Given the description of an element on the screen output the (x, y) to click on. 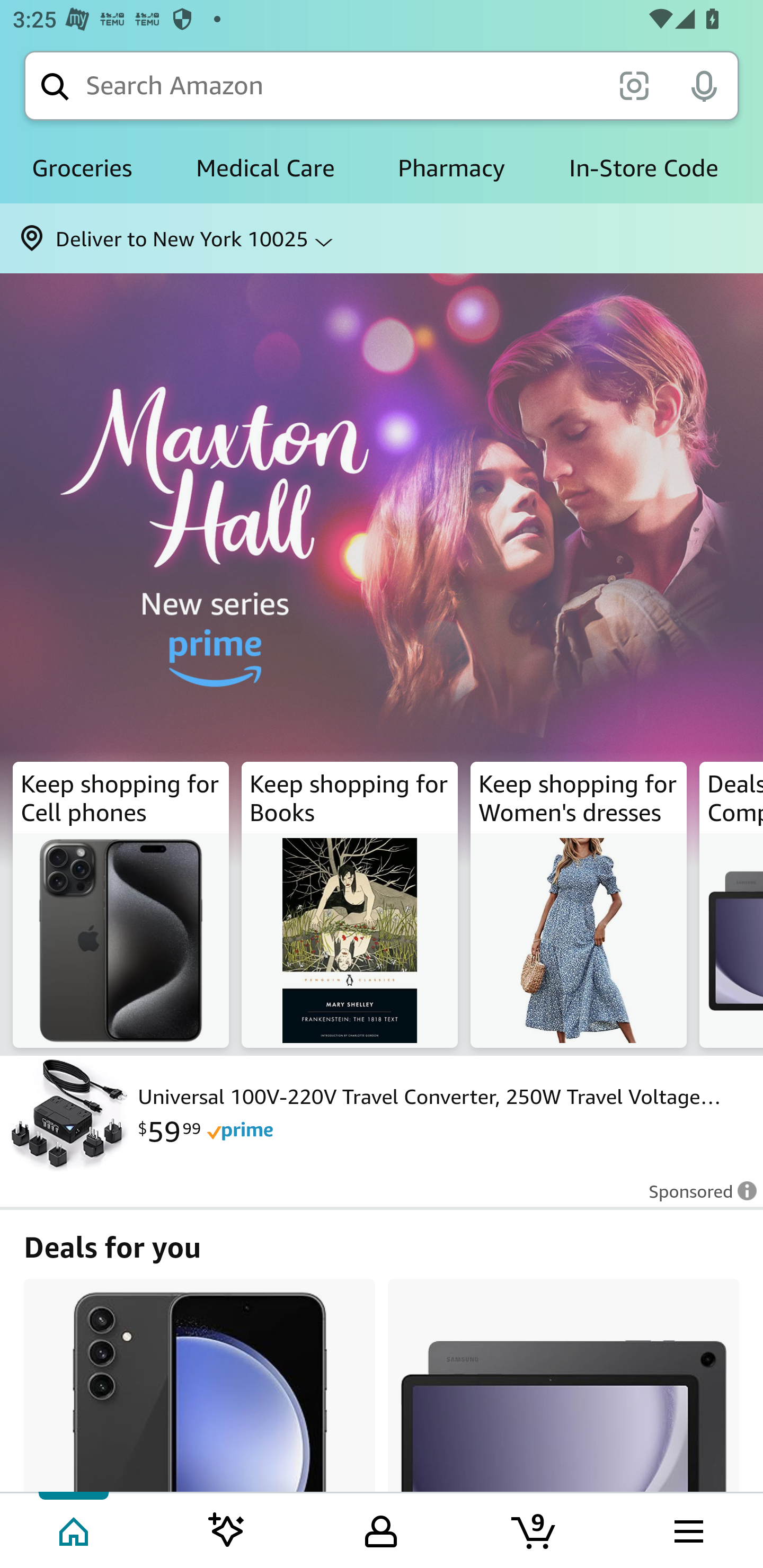
scan it (633, 85)
Groceries (82, 168)
Medical Care (265, 168)
Pharmacy (451, 168)
In-Store Code (643, 168)
Deliver to New York 10025 ⌵ (381, 237)
Keep shopping for Books Keep shopping for Books (349, 904)
Leave feedback on Sponsored ad Sponsored  (696, 1196)
Home Tab 1 of 5 (75, 1529)
Inspire feed Tab 2 of 5 (227, 1529)
Your Amazon.com Tab 3 of 5 (380, 1529)
Cart 9 items Tab 4 of 5 9 (534, 1529)
Browse menu Tab 5 of 5 (687, 1529)
